Given the description of an element on the screen output the (x, y) to click on. 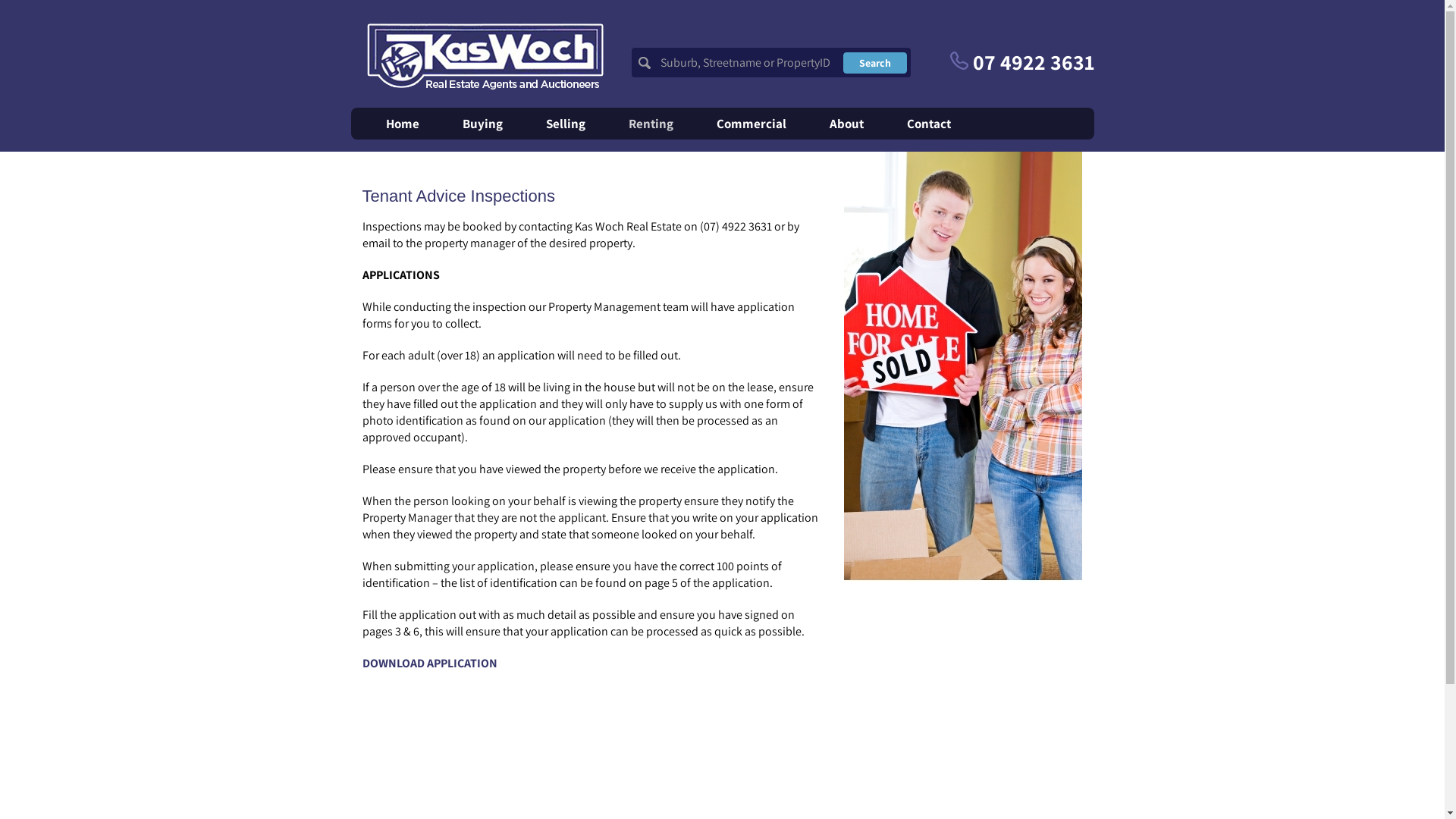
Home Element type: text (401, 123)
Commercial Element type: text (750, 123)
Renting Element type: text (650, 123)
Selling Element type: text (565, 123)
DOWNLOAD APPLICATION Element type: text (429, 663)
About Element type: text (846, 123)
Contact Element type: text (928, 123)
Buying Element type: text (482, 123)
07 4922 3631 Element type: text (1021, 61)
Search Element type: text (874, 62)
